Given the description of an element on the screen output the (x, y) to click on. 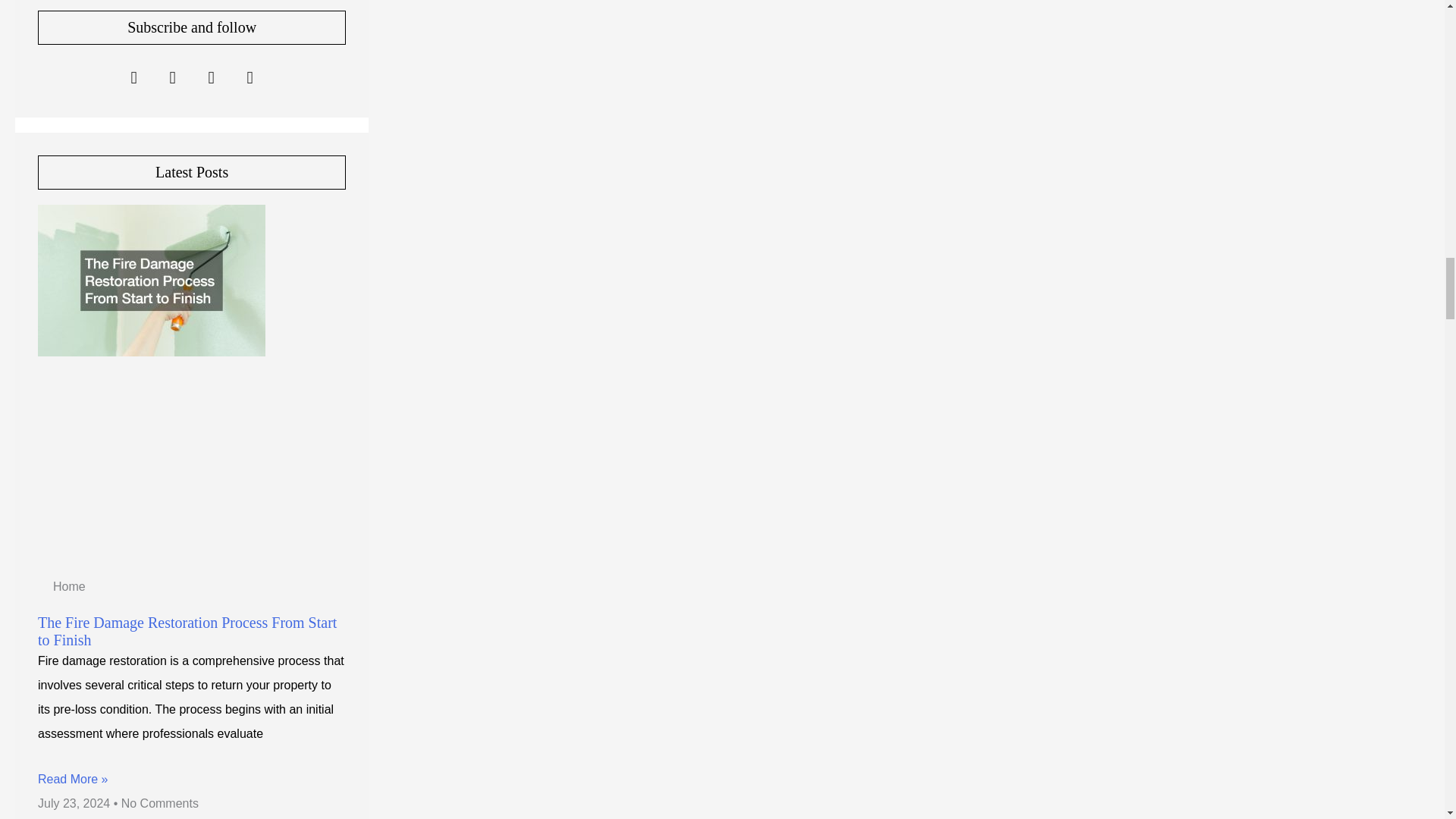
Facebook (133, 77)
Twitter (172, 77)
Google-plus (210, 77)
Tumblr (249, 77)
The Fire Damage Restoration Process From Start to Finish (186, 631)
